Given the description of an element on the screen output the (x, y) to click on. 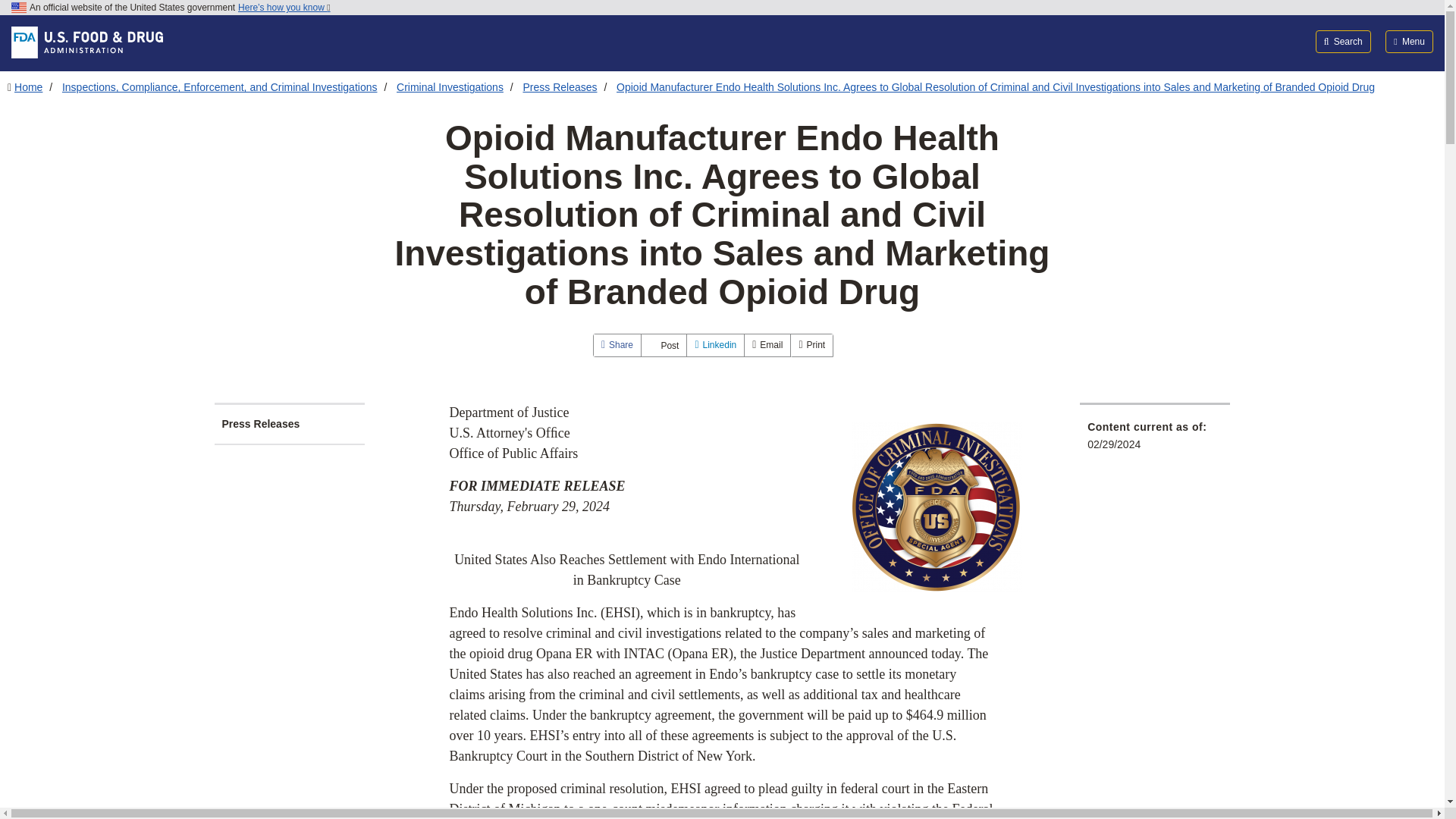
  Menu (1409, 41)
  Search (1343, 41)
Print this page (811, 344)
